Given the description of an element on the screen output the (x, y) to click on. 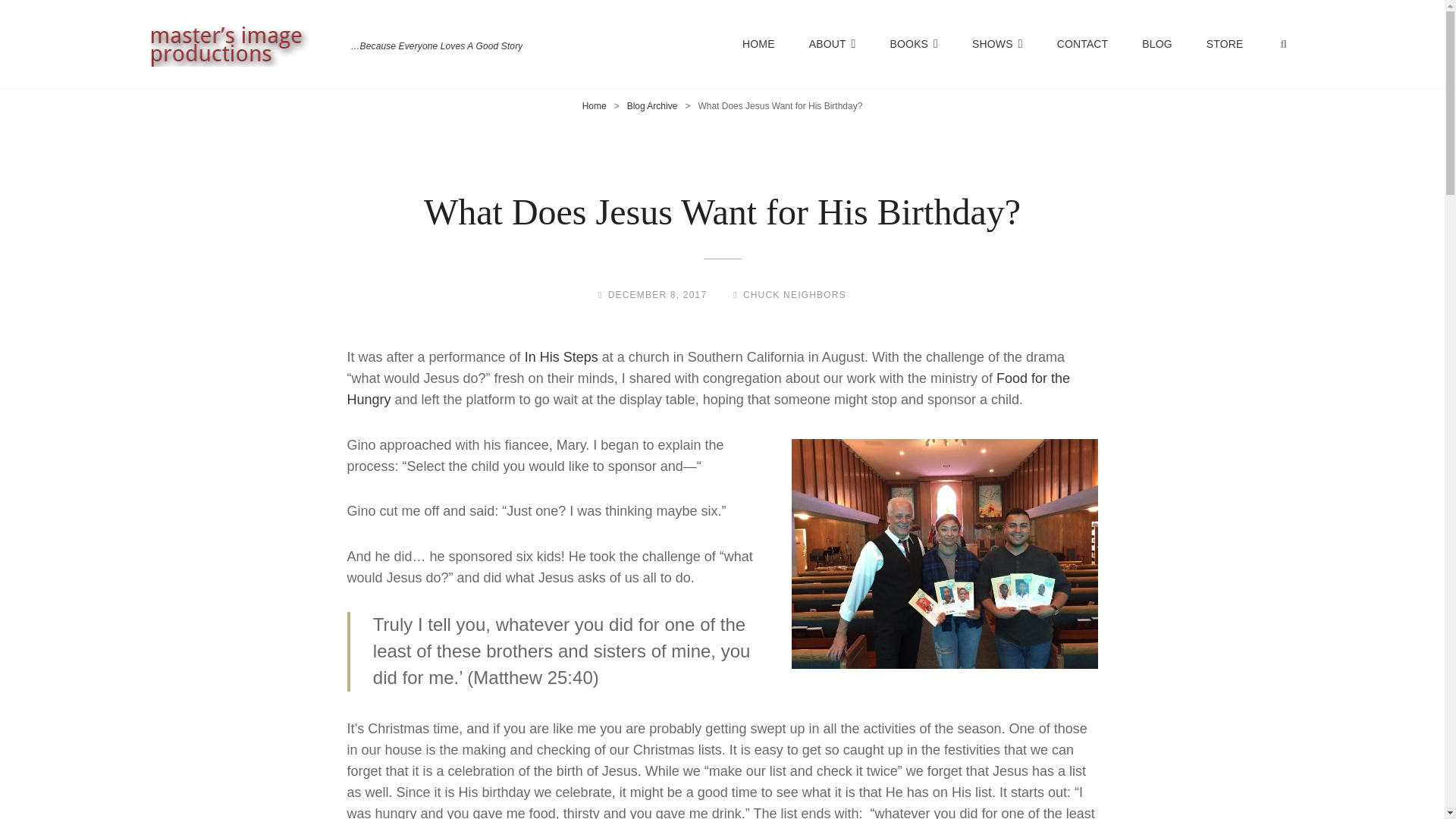
CONTACT (1083, 44)
SHOWS (997, 44)
In His Steps (561, 356)
SEARCH (1283, 43)
BLOG (1156, 44)
Shows (997, 44)
Blog (1156, 44)
Home (594, 105)
BOOKS (914, 44)
Food for the Hungry (708, 389)
